Given the description of an element on the screen output the (x, y) to click on. 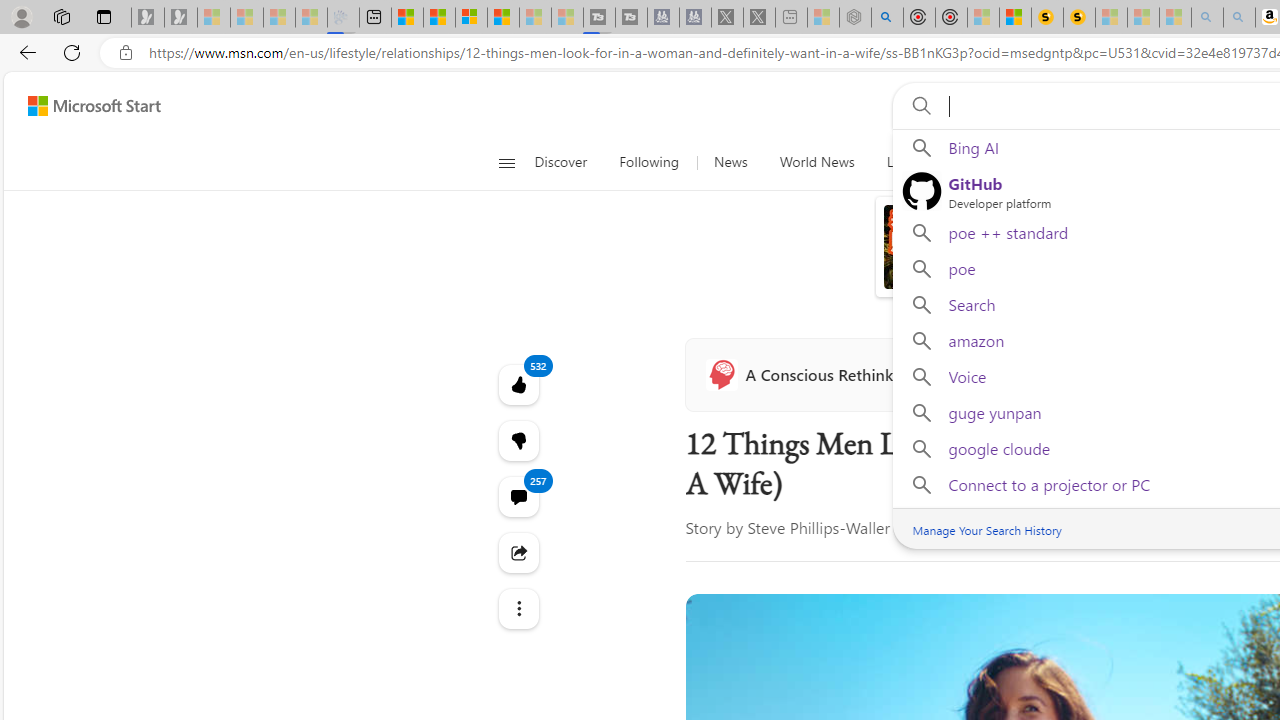
anim-content (983, 255)
Technology (1063, 162)
Open navigation menu (506, 162)
Crime (1149, 162)
Nordace - Summer Adventures 2024 - Sleeping (855, 17)
Amazon Echo Dot PNG - Search Images - Sleeping (1239, 17)
Politics (1220, 162)
